Given the description of an element on the screen output the (x, y) to click on. 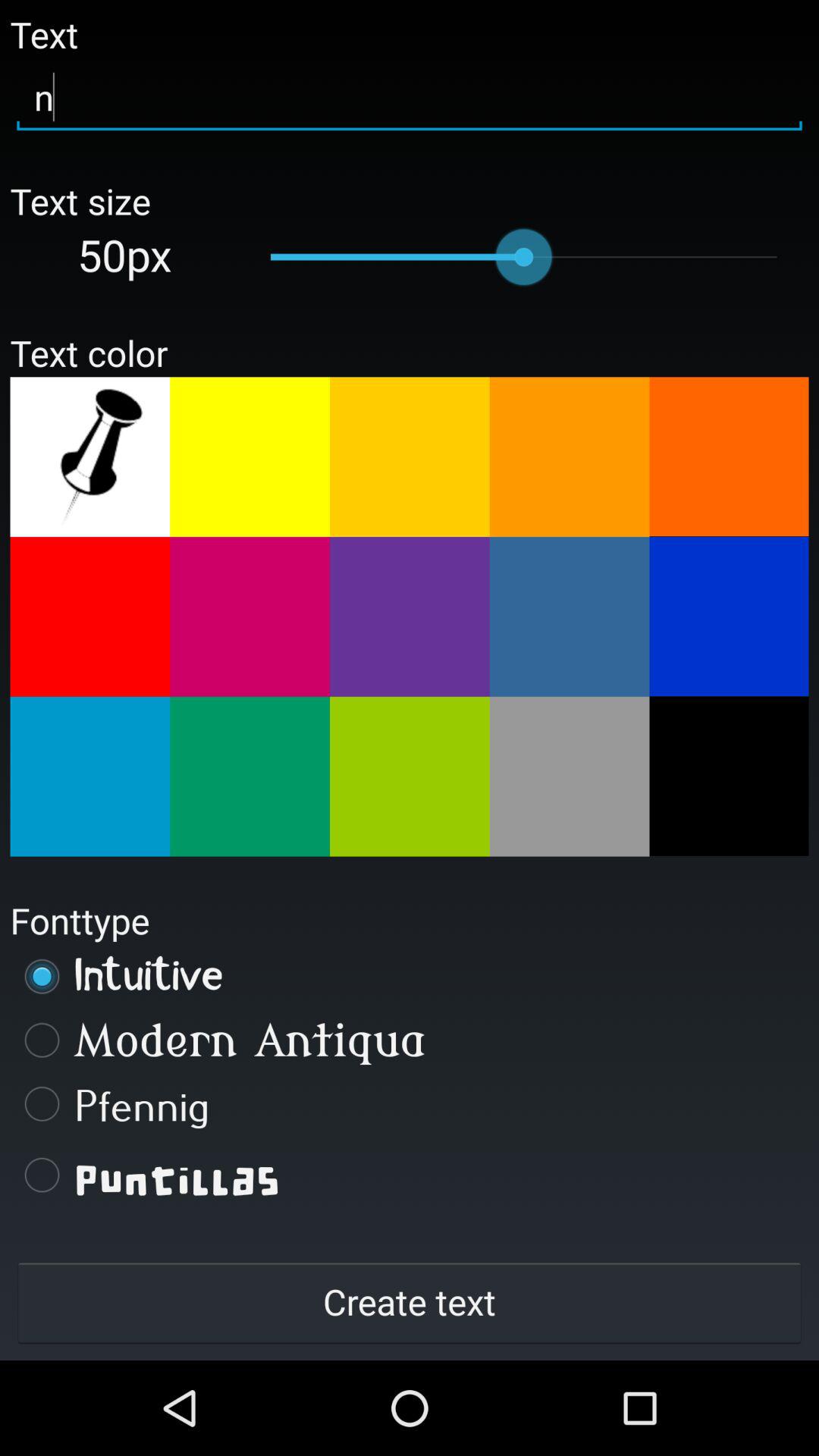
select color (728, 456)
